Given the description of an element on the screen output the (x, y) to click on. 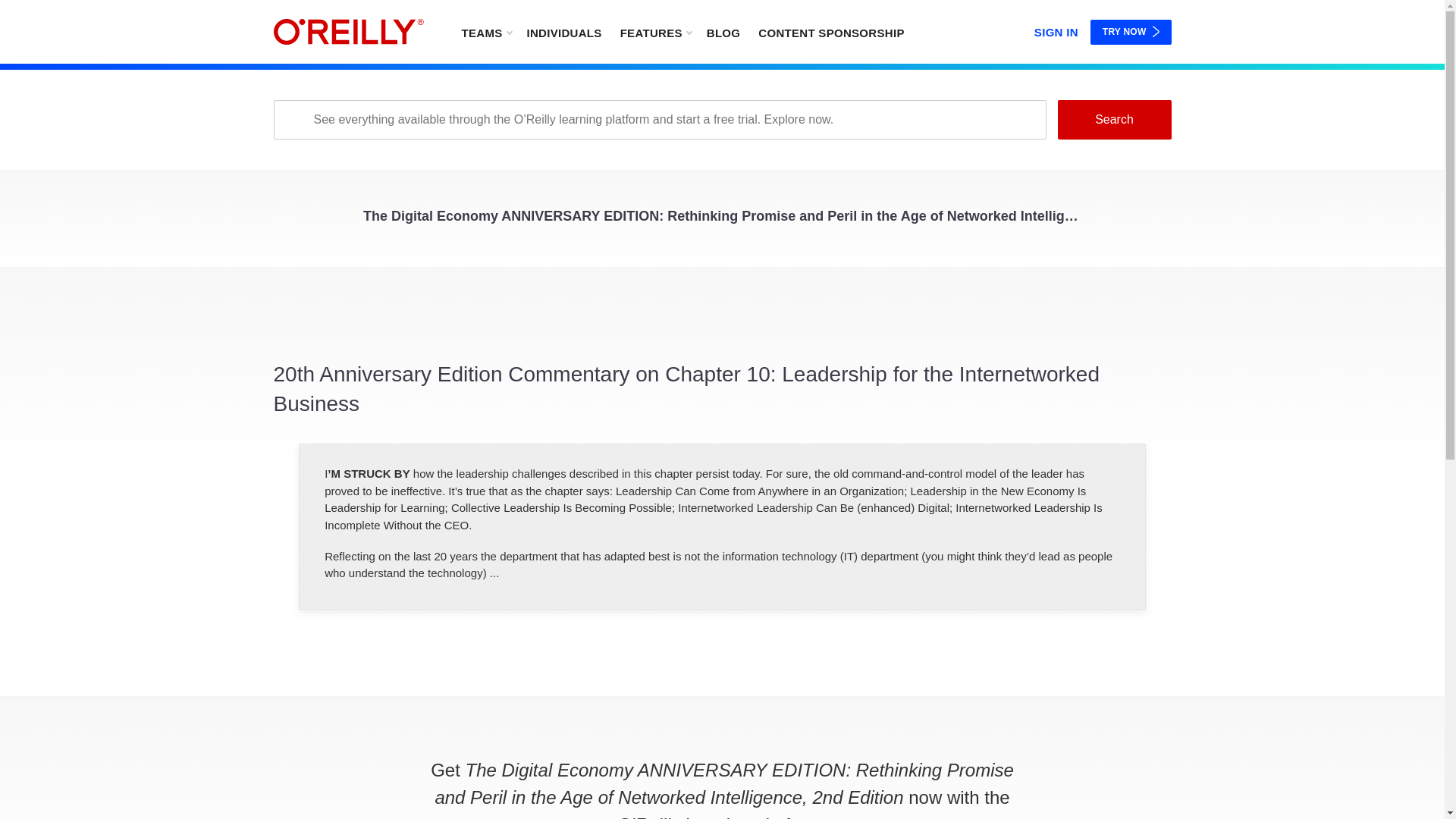
SIGN IN (1055, 29)
INDIVIDUALS (563, 31)
BLOG (723, 31)
FEATURES (655, 31)
home page (348, 31)
CONTENT SPONSORSHIP (831, 31)
Search (1113, 119)
Search (1113, 119)
Search (1113, 119)
TEAMS (486, 31)
TRY NOW (1131, 32)
